Given the description of an element on the screen output the (x, y) to click on. 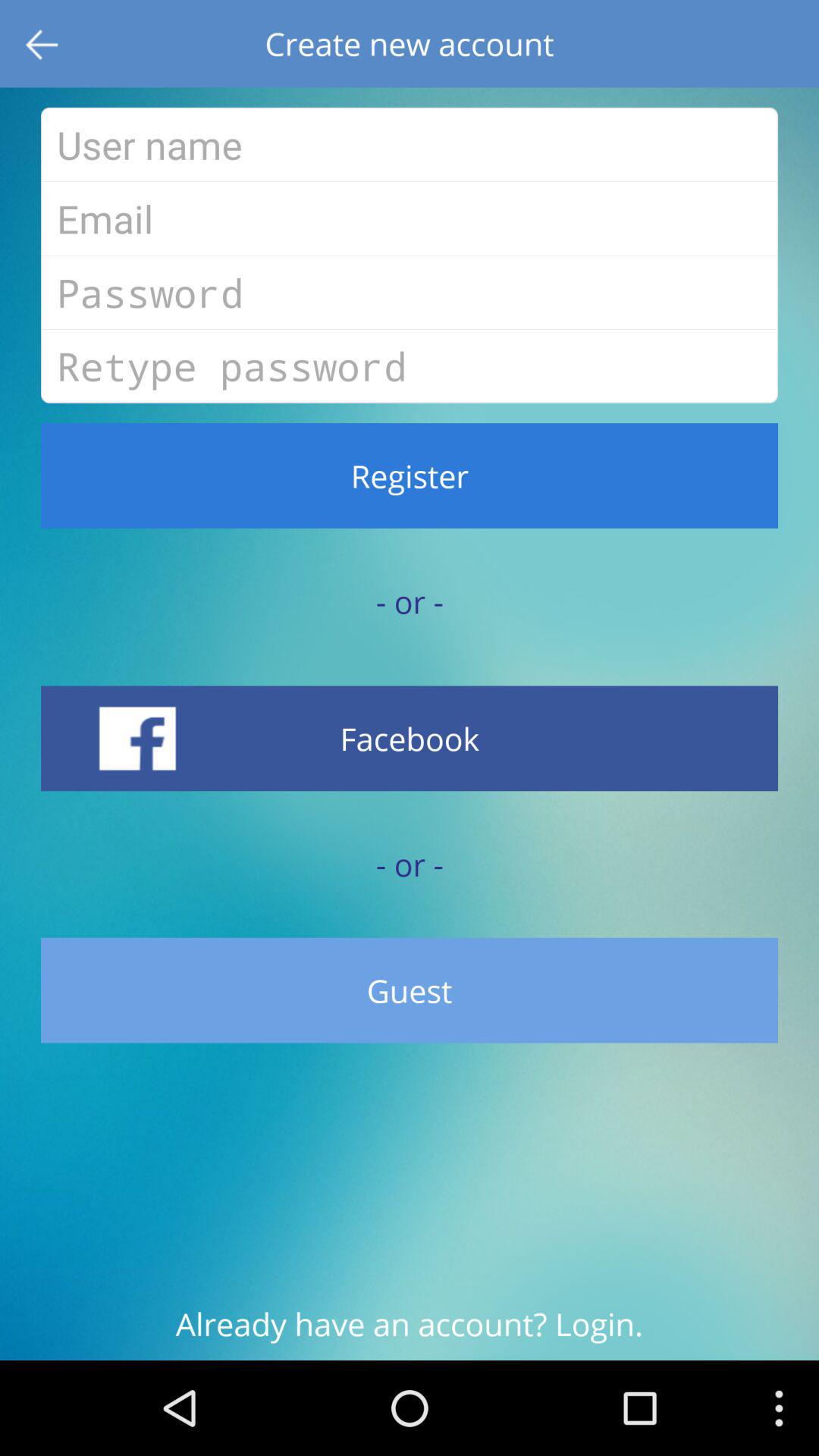
coloque aqui o seu nome (409, 144)
